Given the description of an element on the screen output the (x, y) to click on. 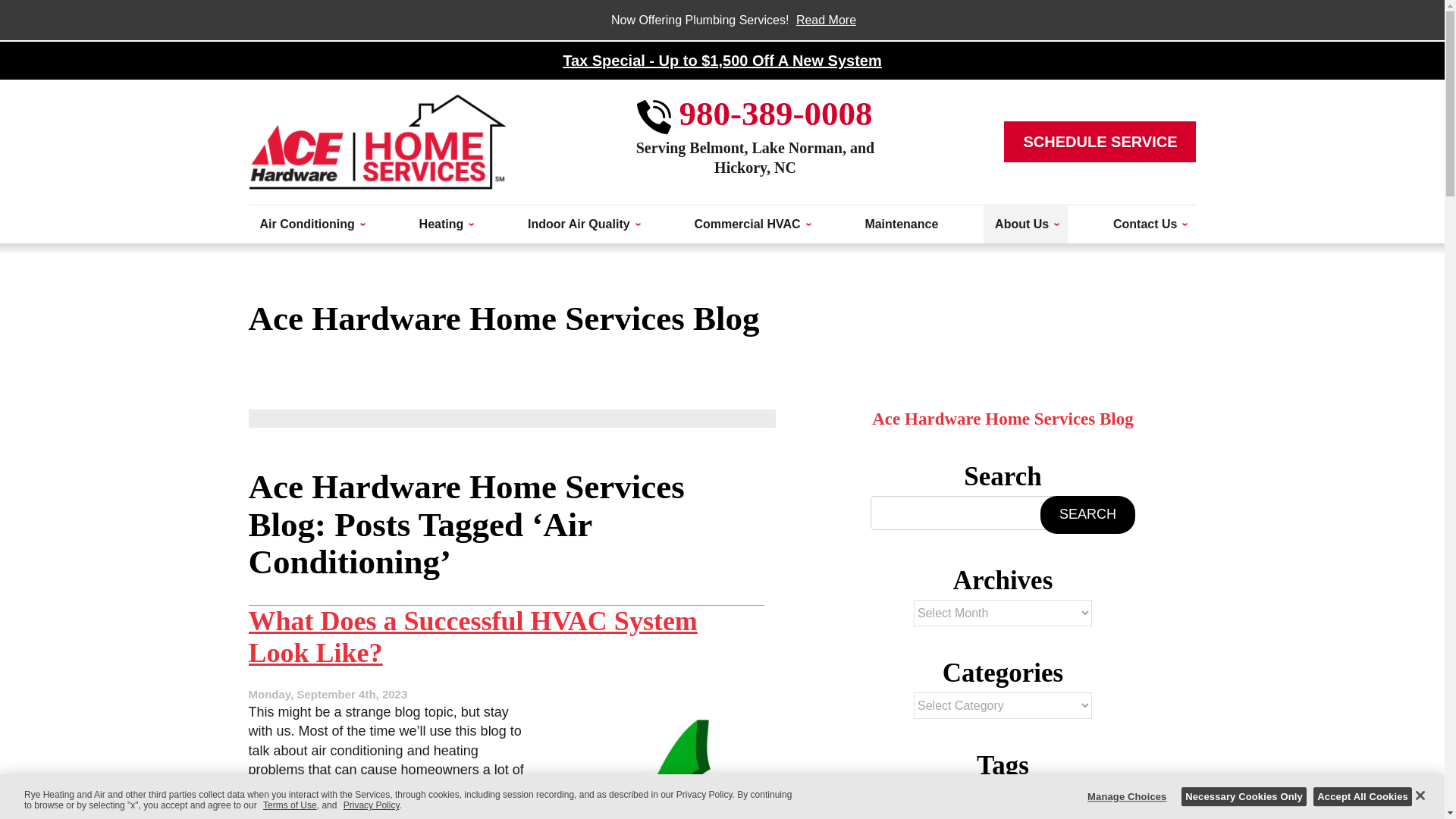
Indoor Air Quality (582, 224)
980-389-0008 (754, 112)
SCHEDULE SERVICE (1099, 141)
Air Conditioning (311, 224)
Heating (445, 224)
Read More (826, 19)
